Given the description of an element on the screen output the (x, y) to click on. 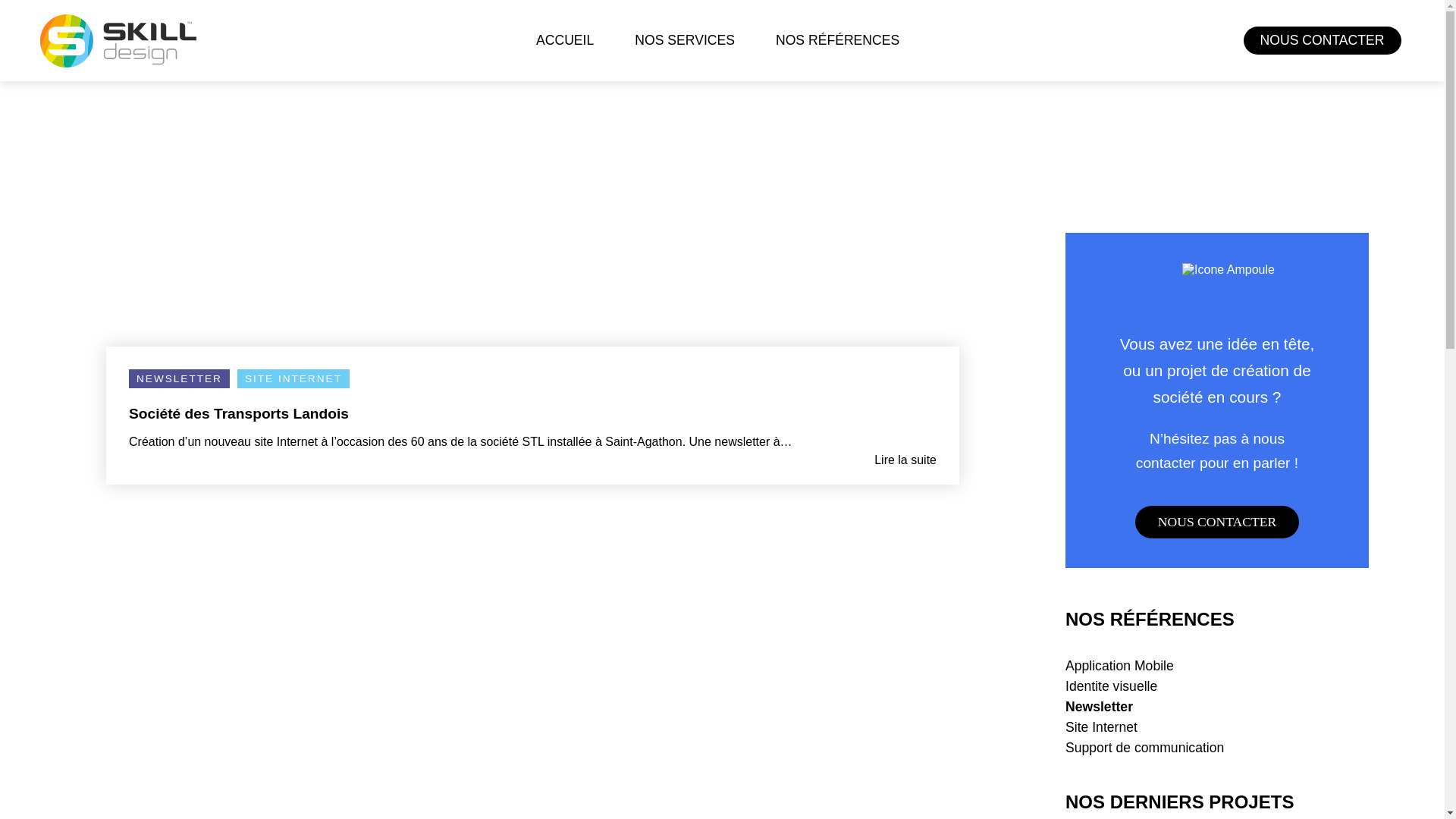
ACCUEIL Element type: text (564, 40)
NOUS CONTACTER Element type: text (1217, 521)
NOUS CONTACTER Element type: text (1322, 40)
Support de communication Element type: text (1144, 747)
Identite visuelle Element type: text (1111, 685)
Application Mobile Element type: text (1119, 665)
NOS SERVICES Element type: text (684, 40)
Lire la suite Element type: text (532, 460)
Newsletter Element type: text (1098, 706)
SITE INTERNET Element type: text (293, 378)
NEWSLETTER Element type: text (178, 378)
Site Internet Element type: text (1101, 726)
